Given the description of an element on the screen output the (x, y) to click on. 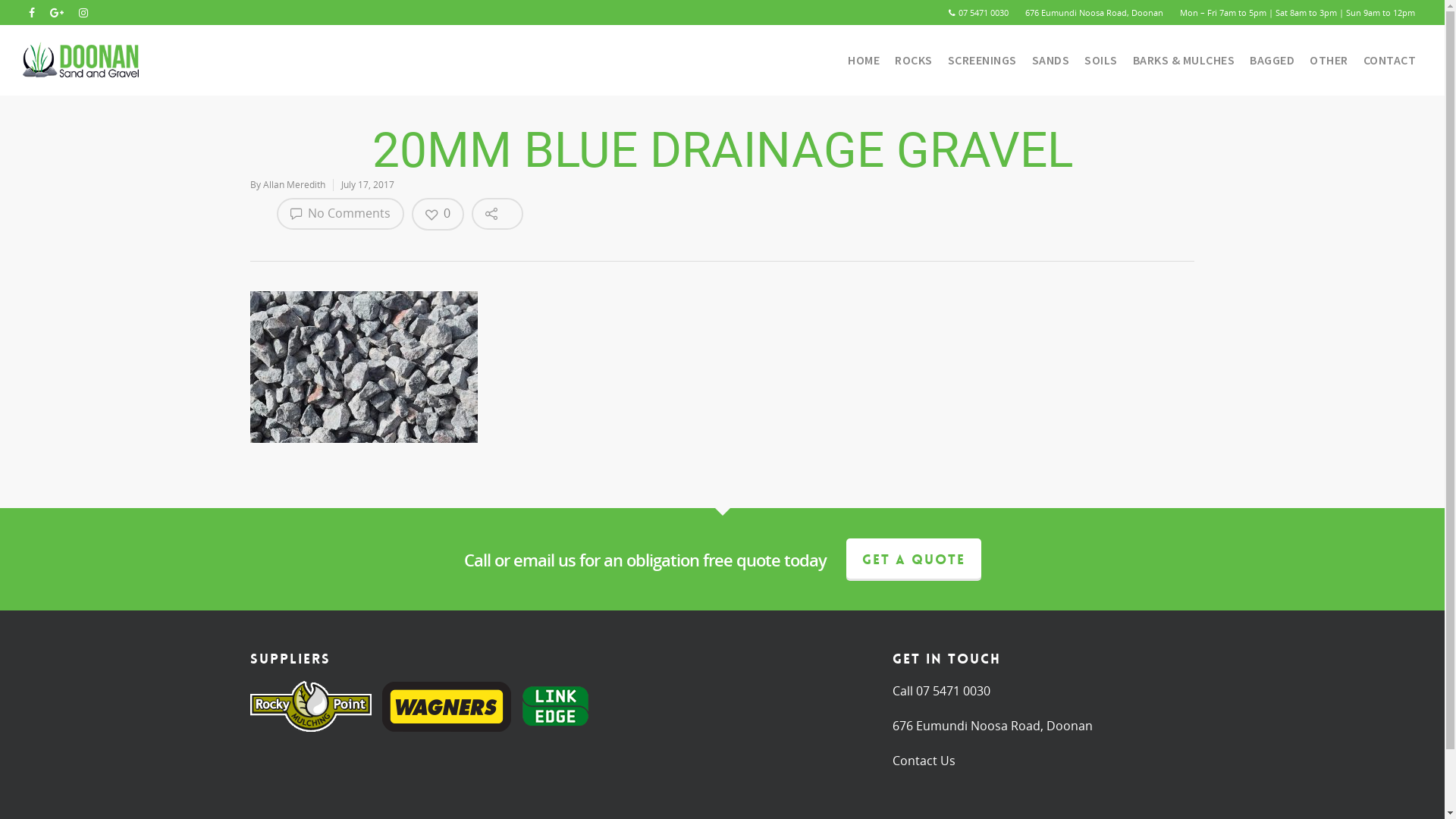
No Comments Element type: text (340, 213)
CONTACT Element type: text (1389, 67)
HOME Element type: text (863, 67)
07 5471 0030 Element type: text (953, 690)
0 Element type: text (437, 213)
SCREENINGS Element type: text (981, 67)
676 Eumundi Noosa Road, Doonan Element type: text (1093, 12)
BAGGED Element type: text (1271, 67)
OTHER Element type: text (1328, 67)
07 5471 0030 Element type: text (982, 12)
GET A QUOTE Element type: text (913, 559)
Contact Us Element type: text (923, 760)
SOILS Element type: text (1100, 67)
BARKS & MULCHES Element type: text (1183, 67)
Allan Meredith Element type: text (294, 184)
ROCKS Element type: text (913, 67)
SANDS Element type: text (1050, 67)
